Given the description of an element on the screen output the (x, y) to click on. 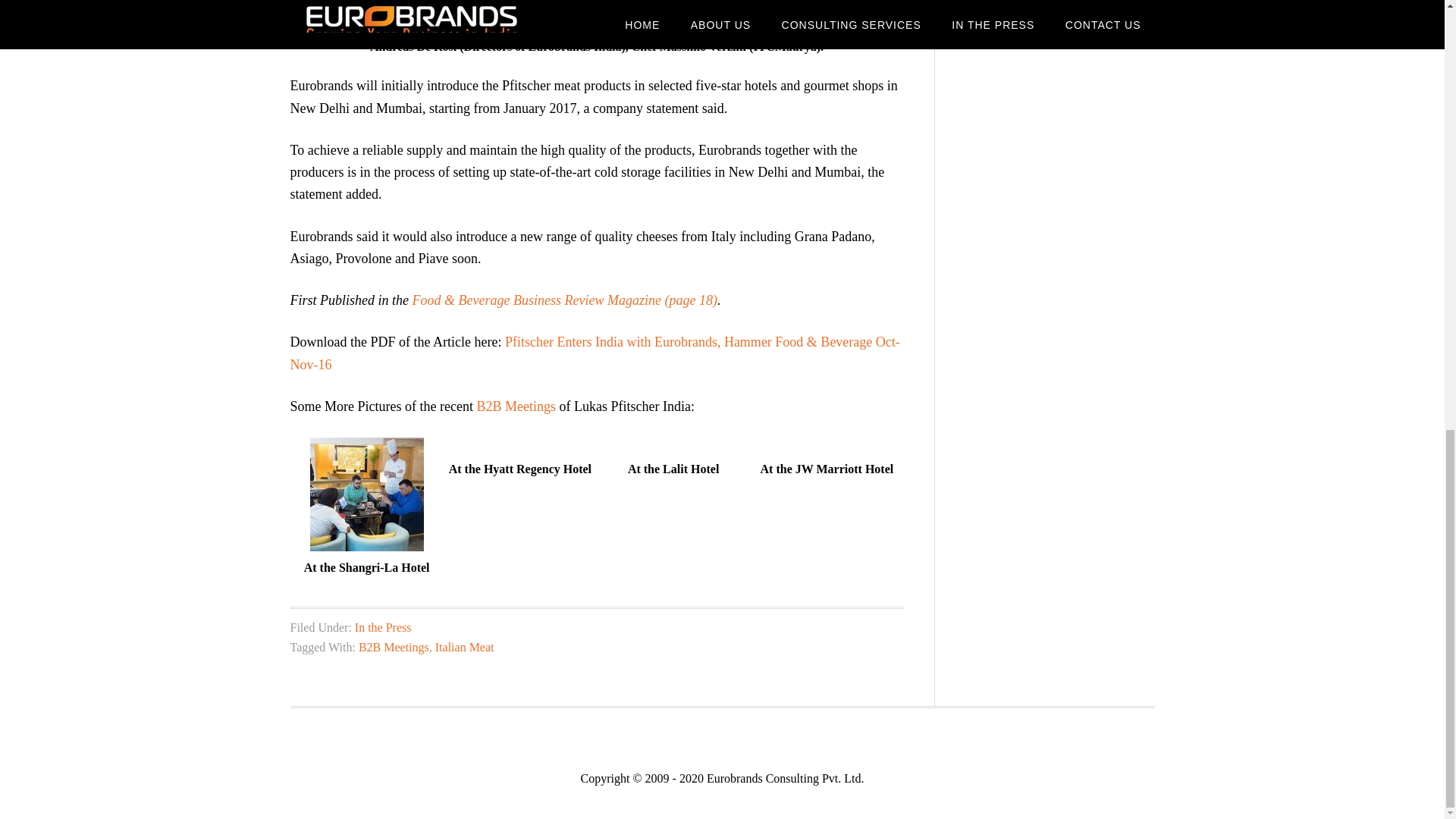
In the Press (383, 626)
B2B Meetings (393, 646)
B2B Meetings (516, 406)
Italian Meat (465, 646)
